Given the description of an element on the screen output the (x, y) to click on. 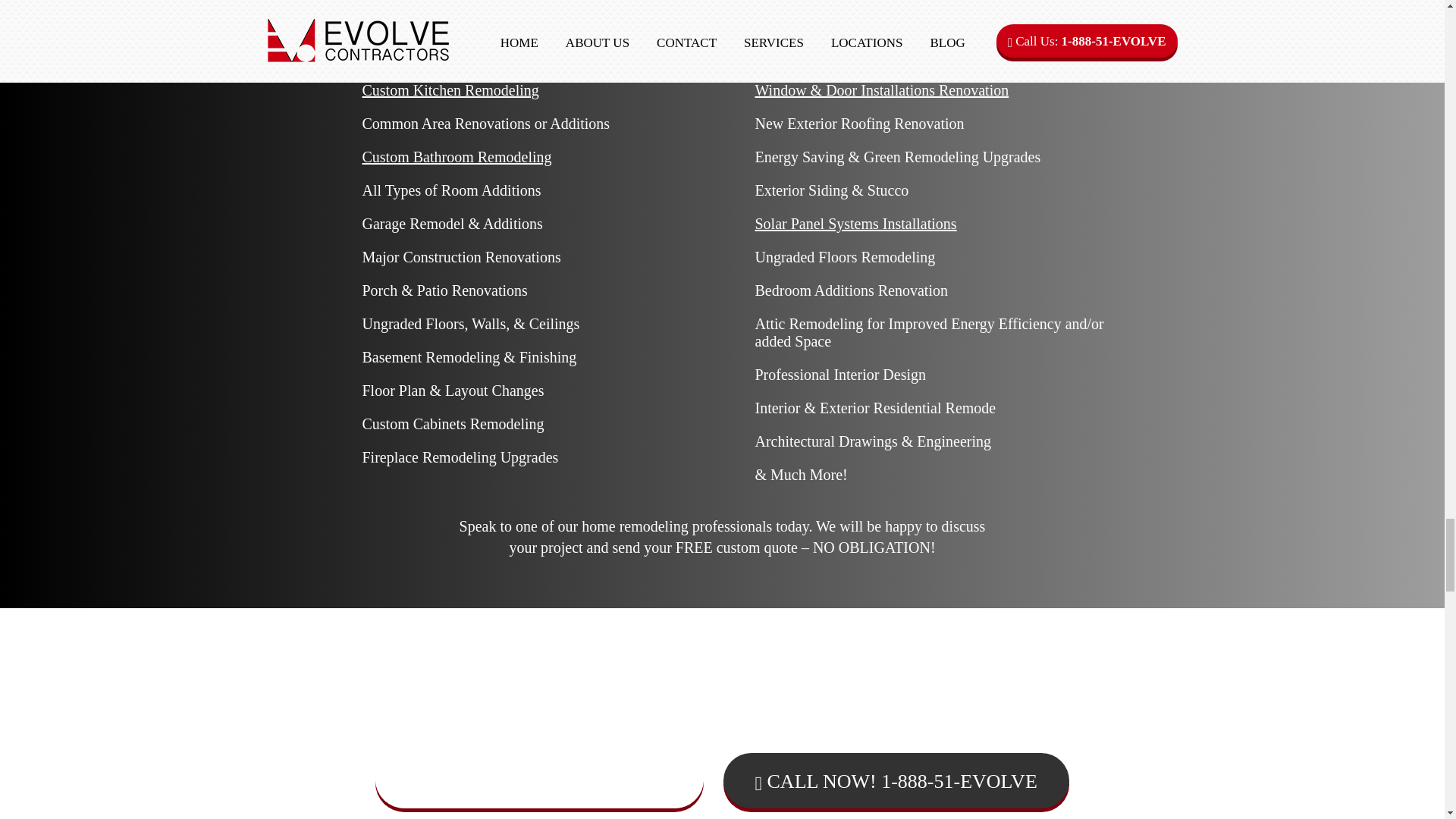
FILL OUT SHORT FORM (539, 779)
Custom Kitchen Remodeling (450, 89)
Custom Bathroom Remodeling (456, 156)
CALL NOW! 1-888-51-EVOLVE (895, 780)
Solar Panel Systems Installations (855, 223)
